Given the description of an element on the screen output the (x, y) to click on. 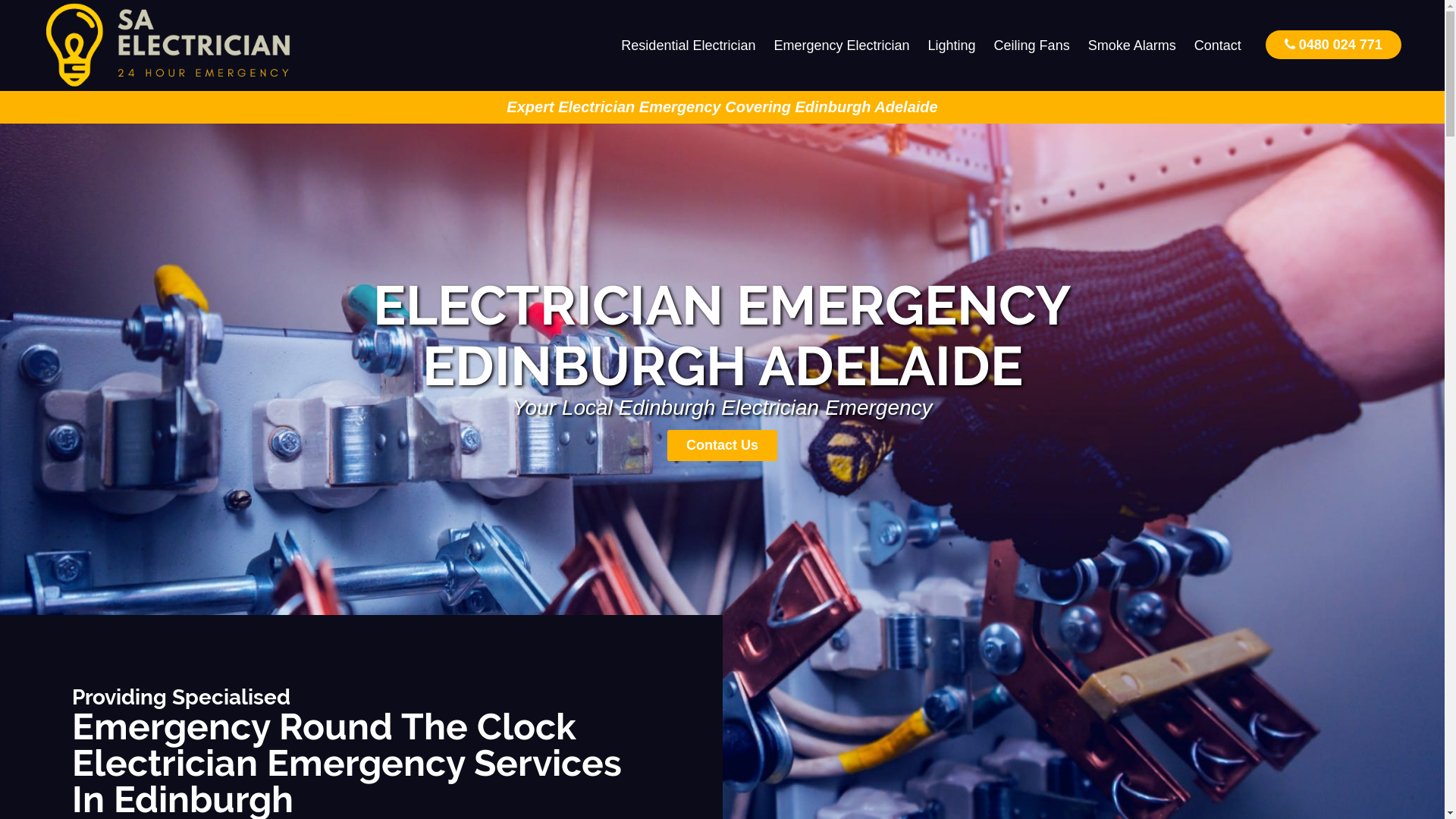
Lighting Element type: text (952, 45)
Smoke Alarms Element type: text (1132, 45)
Residential Electrician Element type: text (687, 45)
0480 024 771 Element type: text (1333, 44)
Contact Element type: text (1217, 45)
Contact Us Element type: text (722, 445)
Ceiling Fans Element type: text (1032, 45)
Emergency Electrician Element type: text (841, 45)
